Given the description of an element on the screen output the (x, y) to click on. 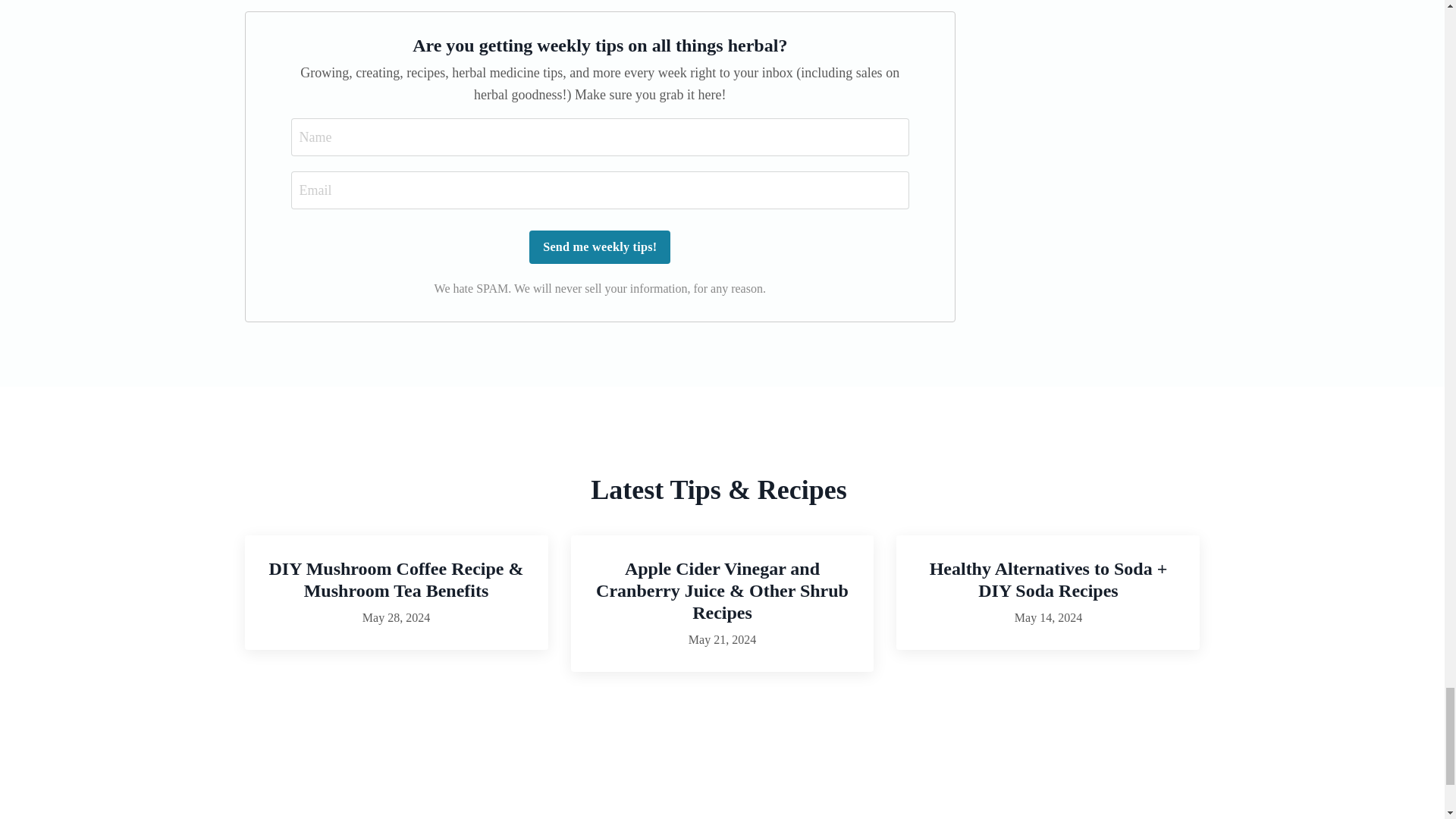
Send me weekly tips! (599, 246)
